Given the description of an element on the screen output the (x, y) to click on. 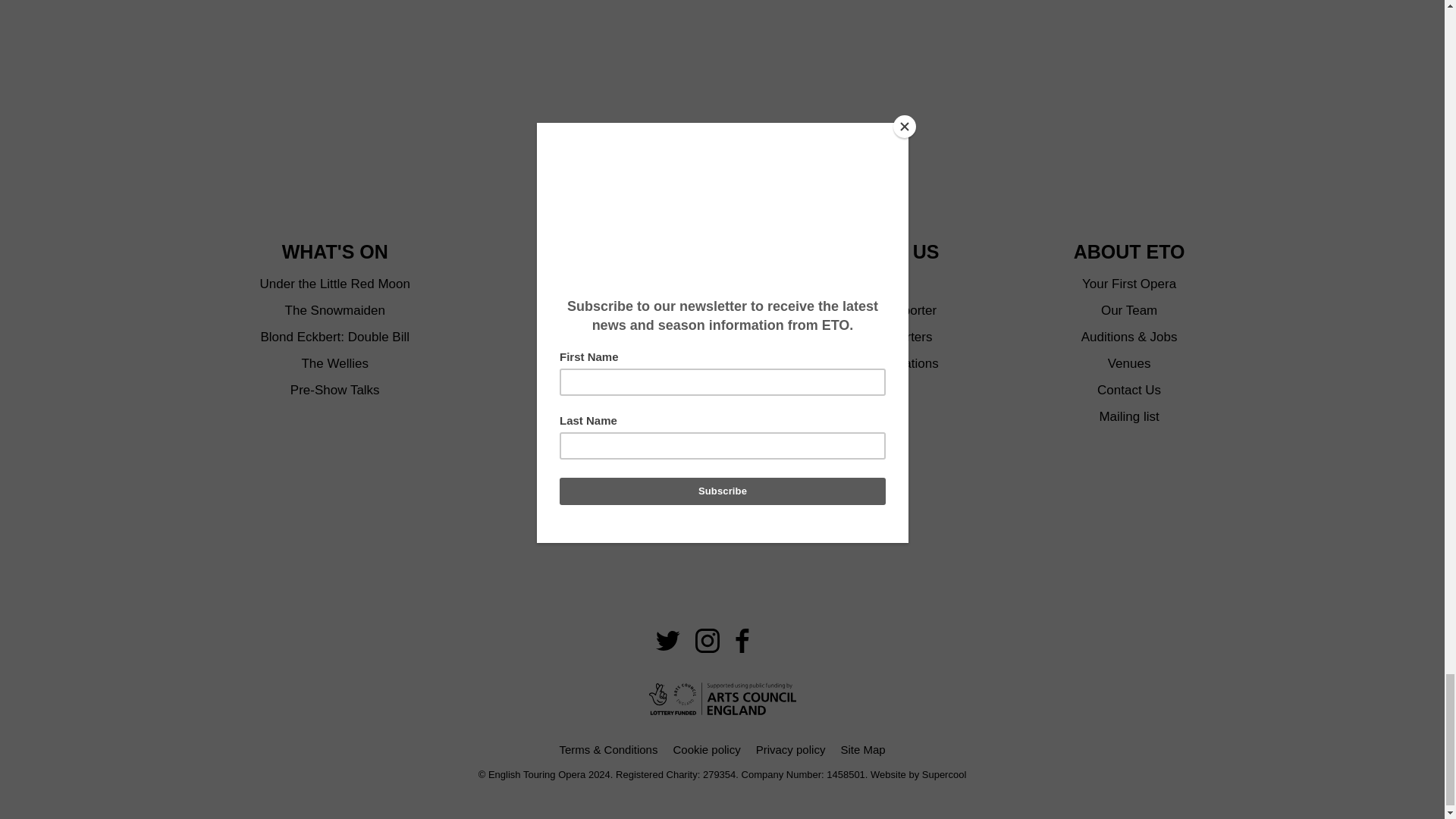
Past Shows (613, 310)
The Snowmaiden (335, 310)
The Wellies (334, 363)
Donate (877, 283)
Current Shows (612, 283)
WHAT'S ON (335, 251)
Become a Supporter (877, 310)
Your First Opera (1128, 283)
Blond Eckbert: Double Bill (334, 336)
Current Supporters (877, 336)
